Given the description of an element on the screen output the (x, y) to click on. 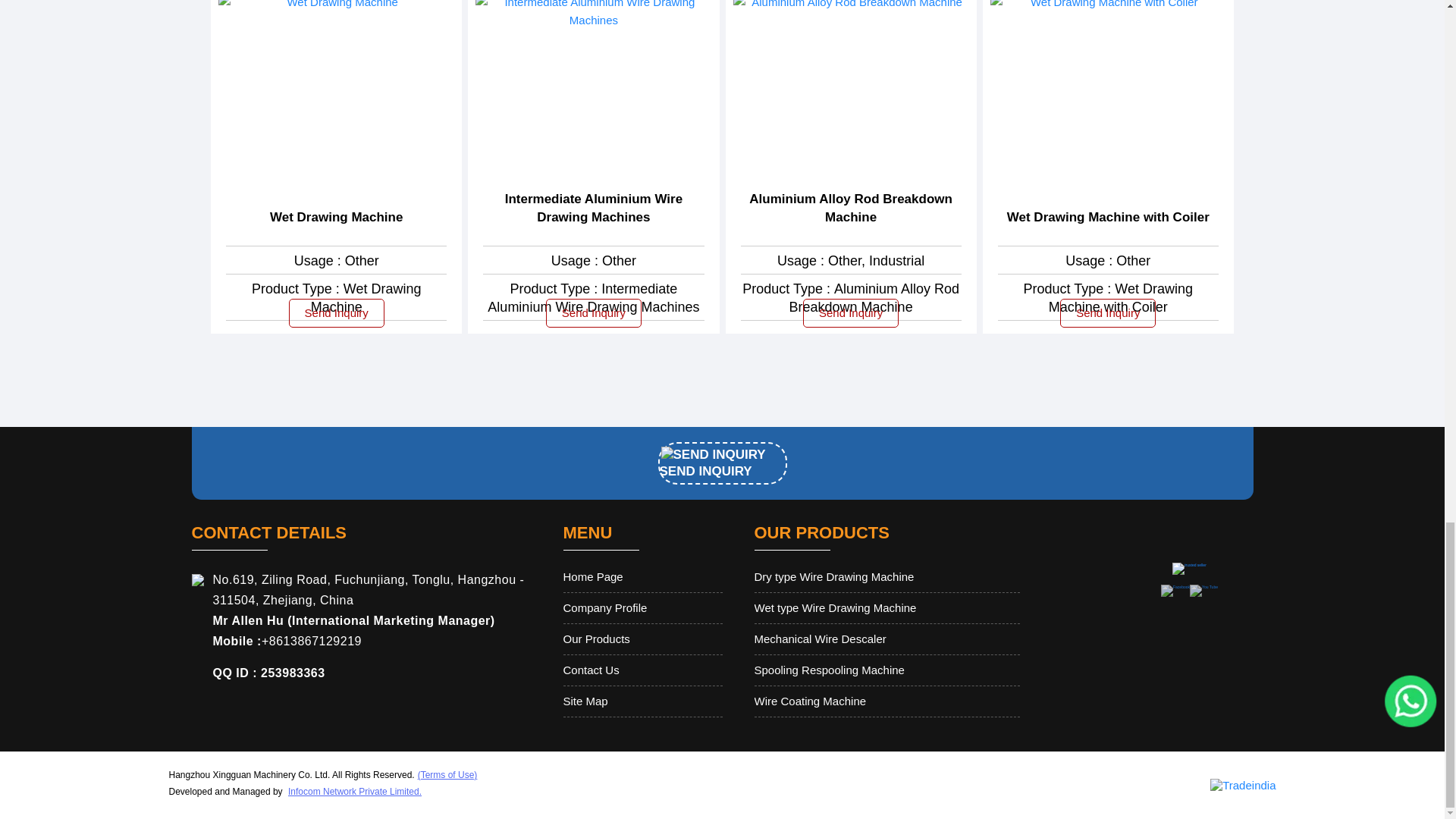
Send Inquiry (713, 454)
Facebook (1174, 586)
You Tube (1203, 586)
